Given the description of an element on the screen output the (x, y) to click on. 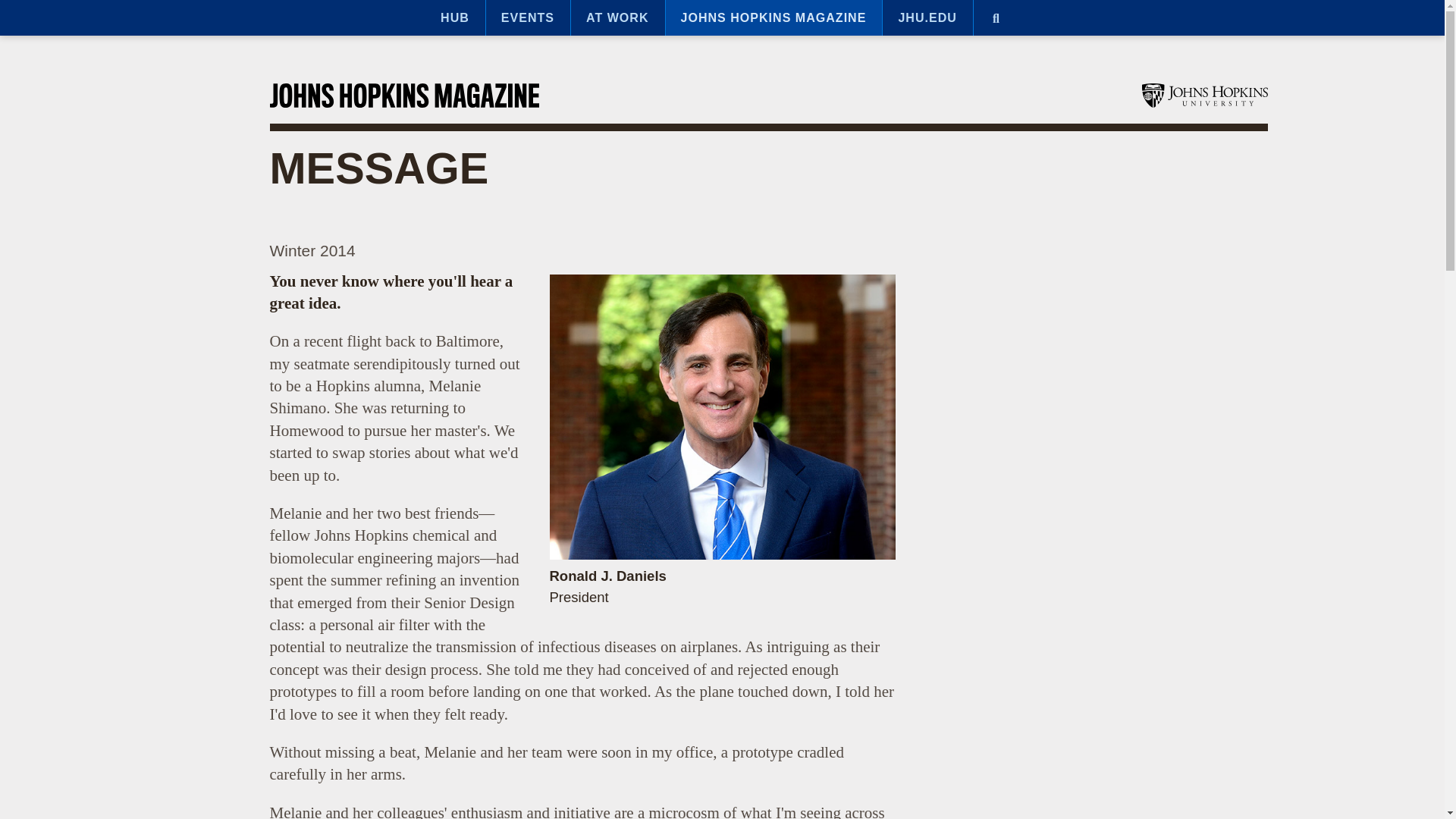
AT WORK (616, 18)
EVENTS (527, 18)
HUB (454, 18)
JHU.EDU (927, 18)
Johns Hopkins University (1204, 95)
JOHNS HOPKINS MAGAZINE (773, 18)
